Given the description of an element on the screen output the (x, y) to click on. 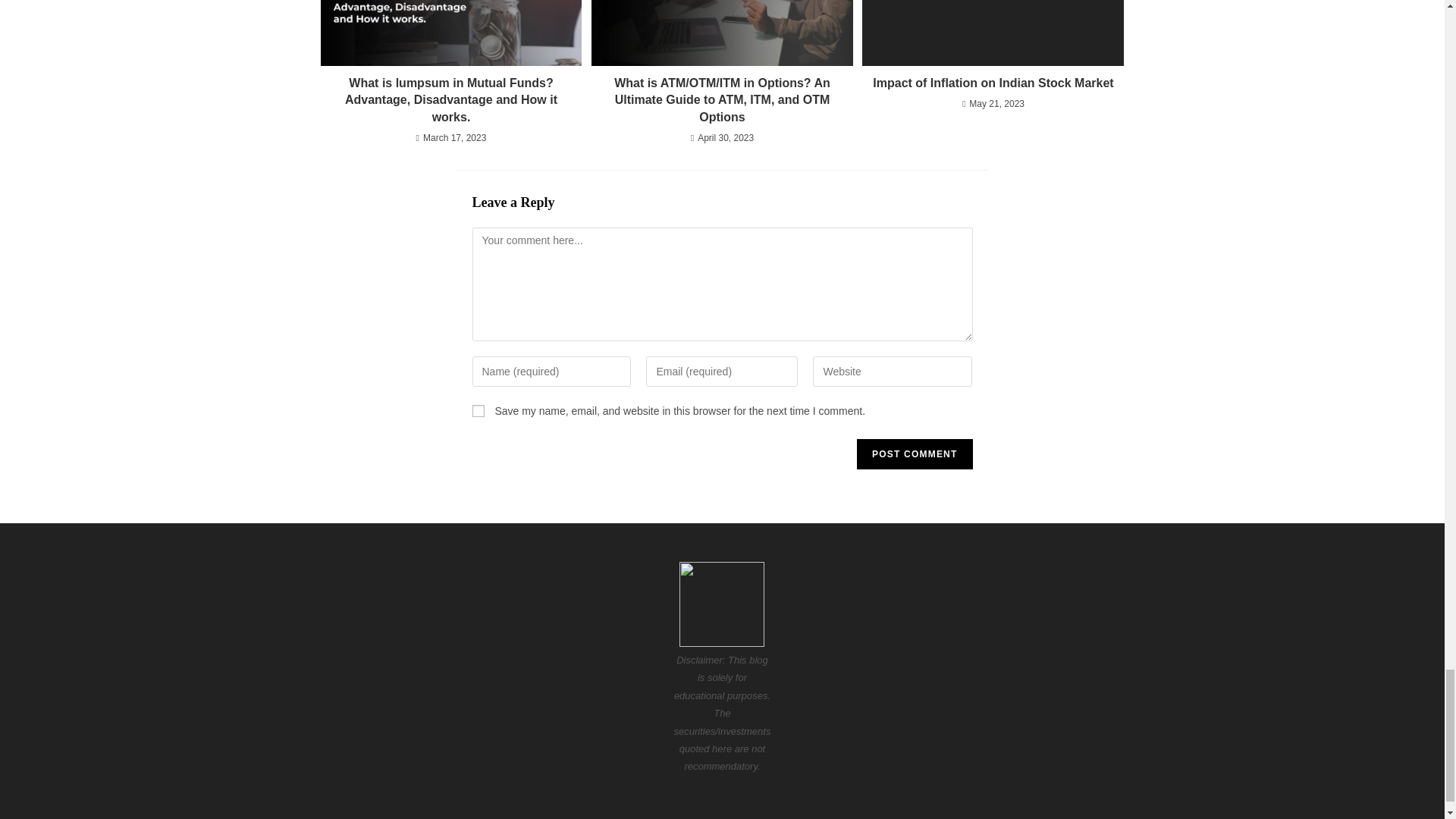
Impact of Inflation on Indian Stock Market (992, 83)
Post Comment (914, 453)
yes (477, 410)
Post Comment (914, 453)
